Given the description of an element on the screen output the (x, y) to click on. 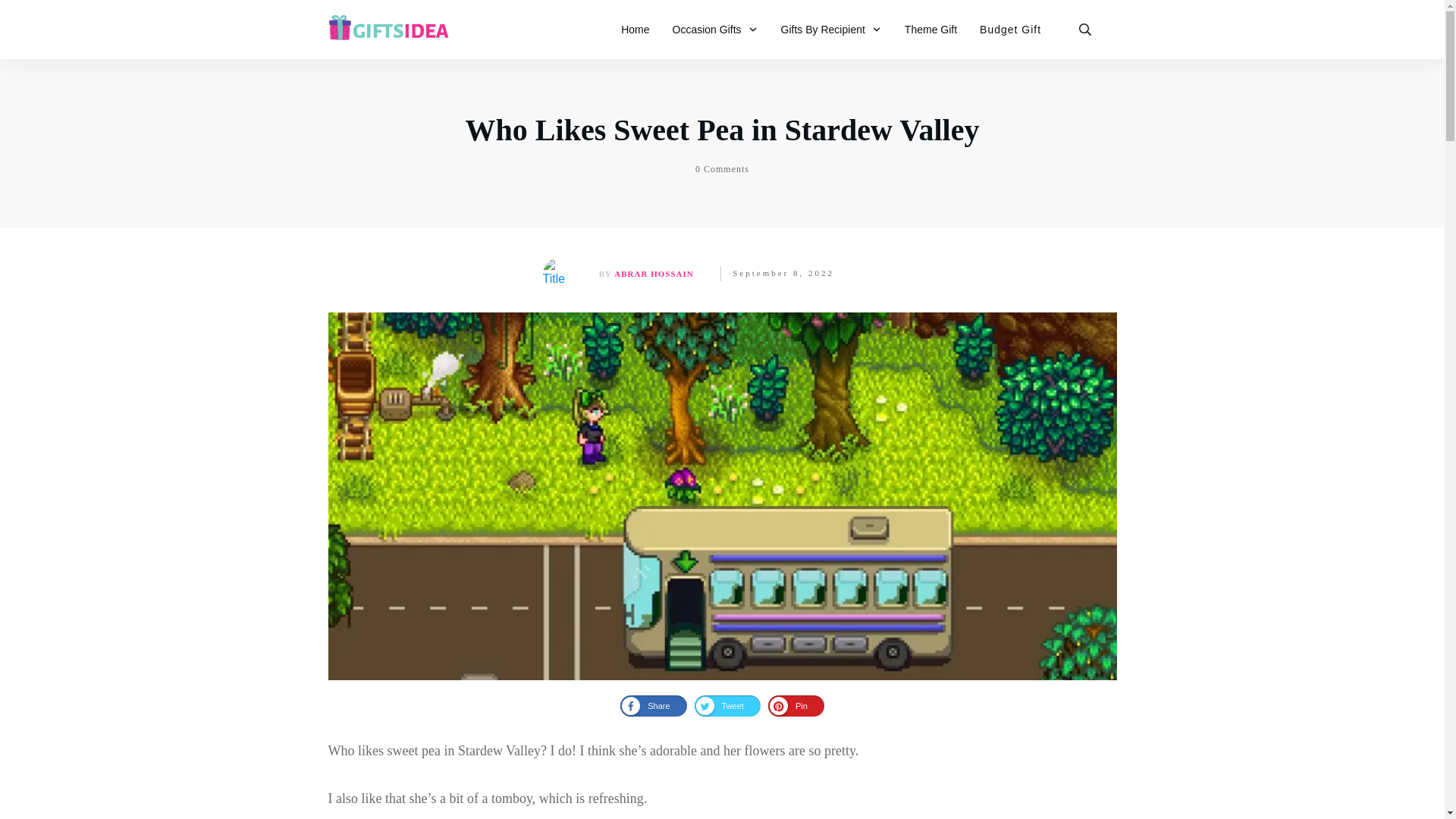
Pin (796, 705)
Share (652, 705)
Title Banner without Sidebar (559, 273)
Occasion Gifts (715, 29)
Budget Gift (1010, 29)
Home (635, 29)
Gifts By Recipient (831, 29)
Theme Gift (930, 29)
ABRAR HOSSAIN (653, 272)
